Given the description of an element on the screen output the (x, y) to click on. 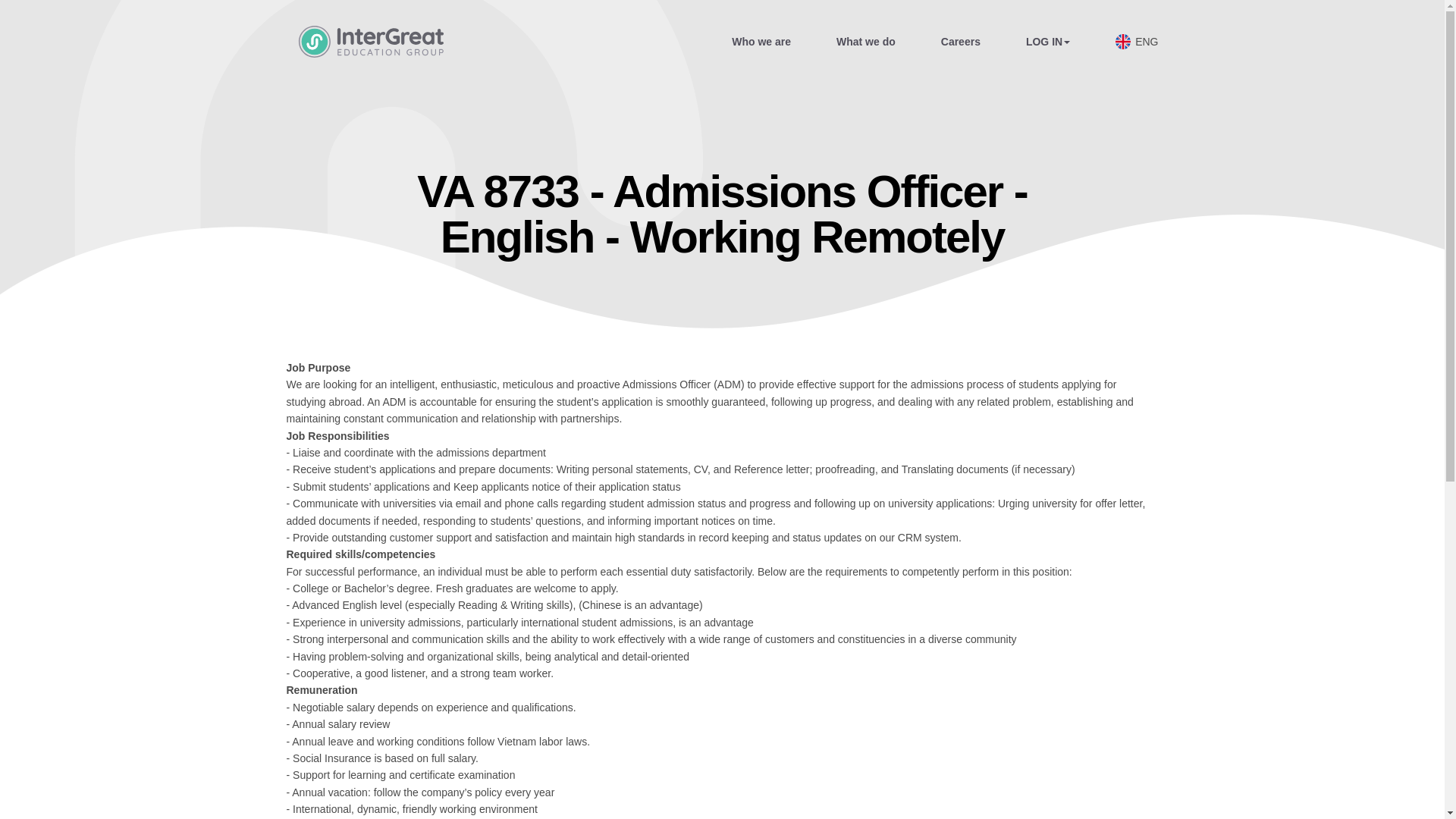
LOG IN (1048, 41)
Who we are (761, 41)
Careers (959, 41)
What we do (865, 41)
